Given the description of an element on the screen output the (x, y) to click on. 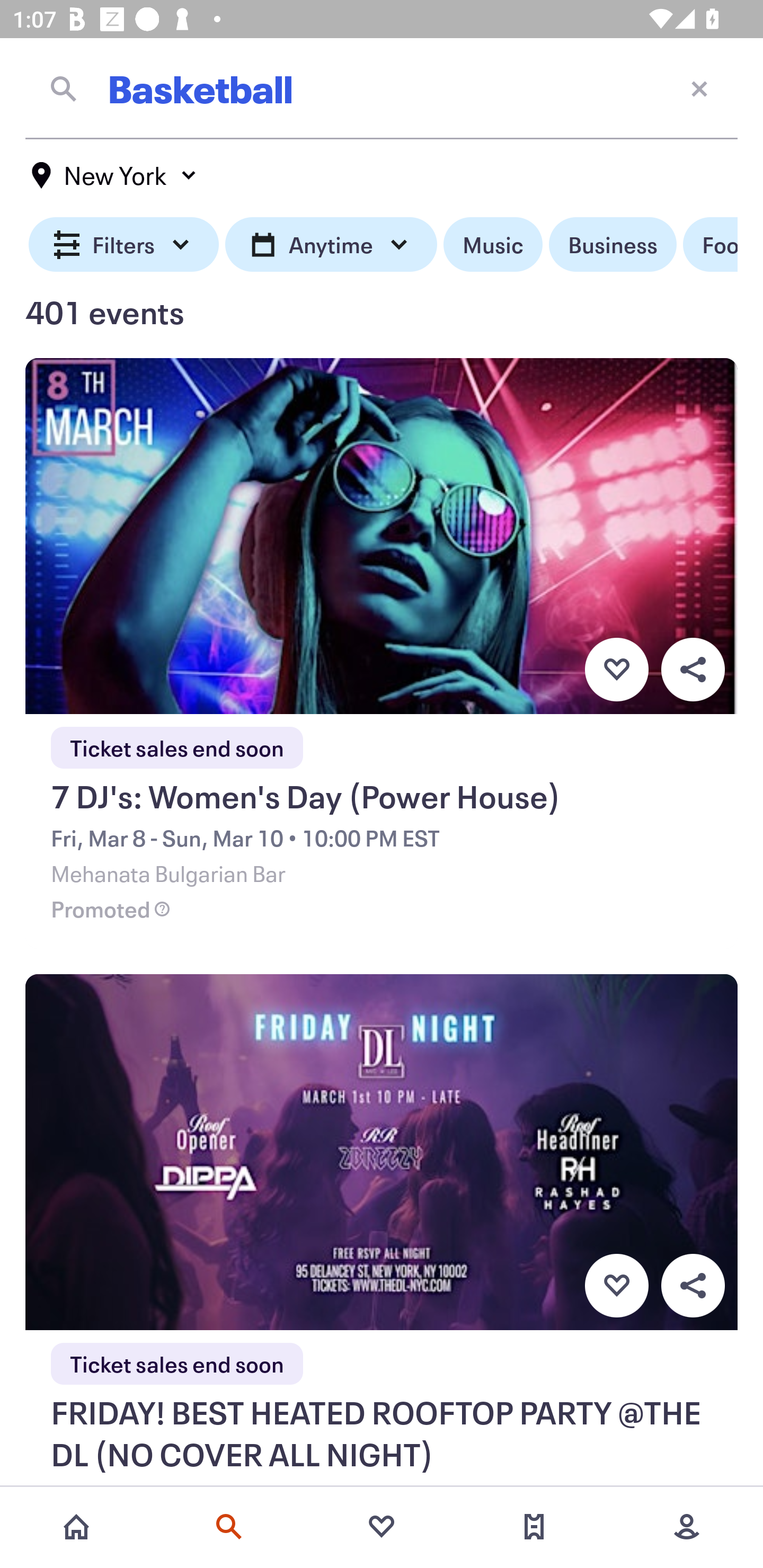
Basketball Close current screen (381, 88)
Close current screen (699, 88)
New York (114, 175)
Filters (123, 244)
Anytime (331, 244)
Music (492, 244)
Business (612, 244)
Favorite button (616, 669)
Overflow menu button (692, 669)
Favorite button (616, 1285)
Overflow menu button (692, 1285)
Home (76, 1526)
Search events (228, 1526)
Favorites (381, 1526)
Tickets (533, 1526)
More (686, 1526)
